Given the description of an element on the screen output the (x, y) to click on. 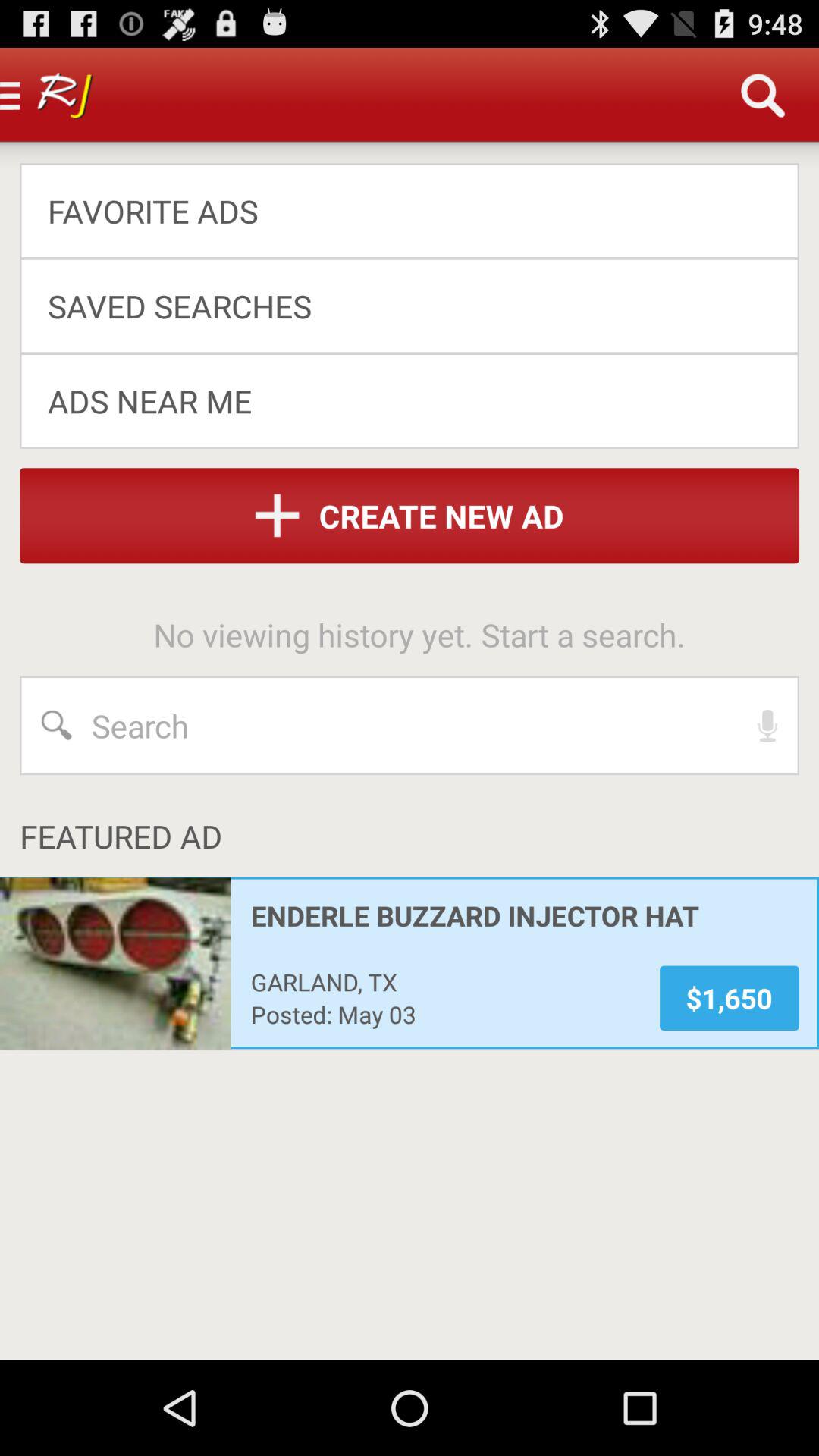
launch app to the left of the $1,650 item (444, 1014)
